Given the description of an element on the screen output the (x, y) to click on. 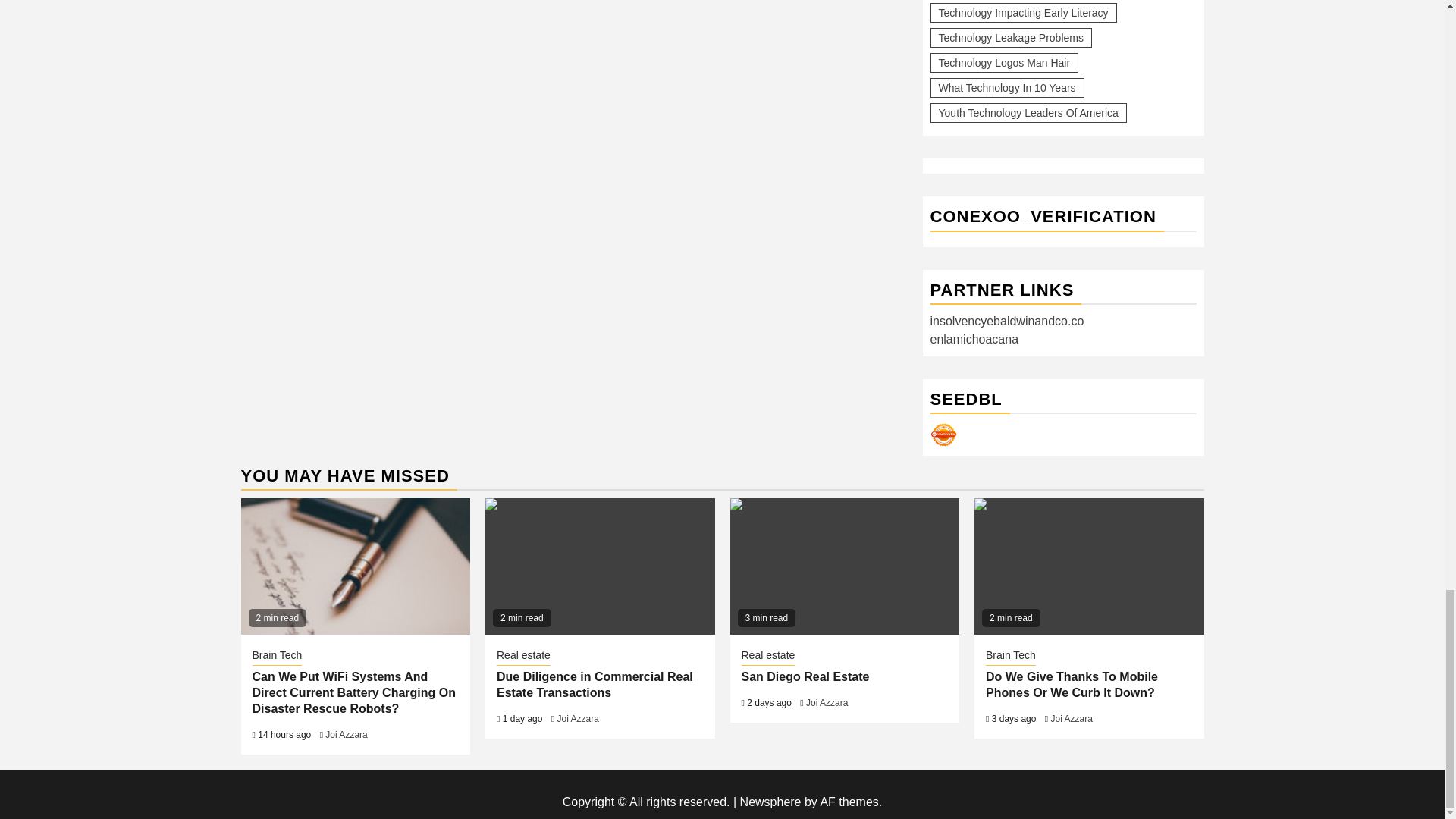
Seedbacklink (943, 434)
San Diego Real Estate (844, 565)
Due Diligence in Commercial Real Estate Transactions (599, 565)
